Given the description of an element on the screen output the (x, y) to click on. 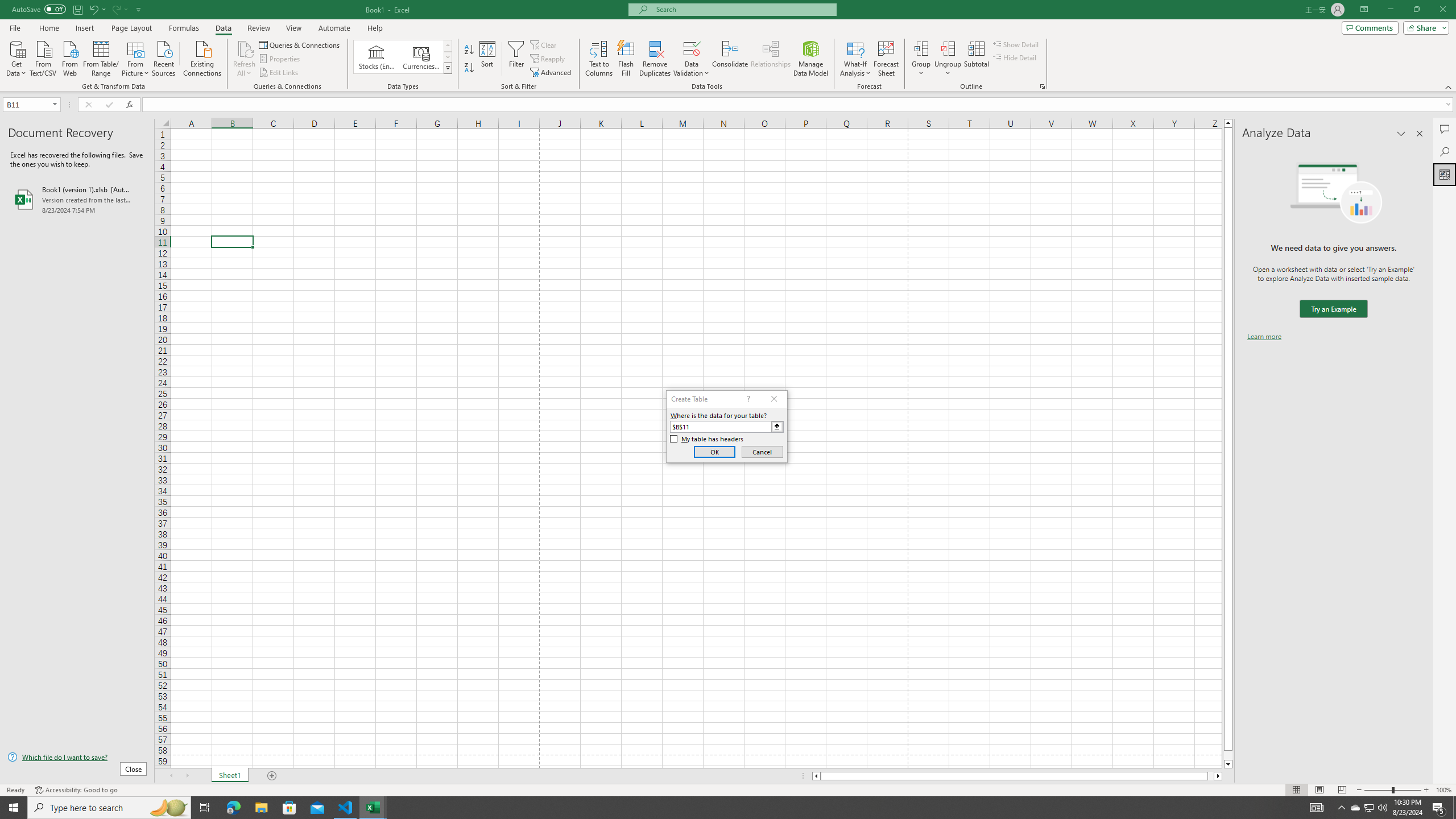
What-If Analysis (855, 58)
Queries & Connections (300, 44)
Text to Columns... (598, 58)
Stocks (English) (375, 56)
Subtotal (976, 58)
